Given the description of an element on the screen output the (x, y) to click on. 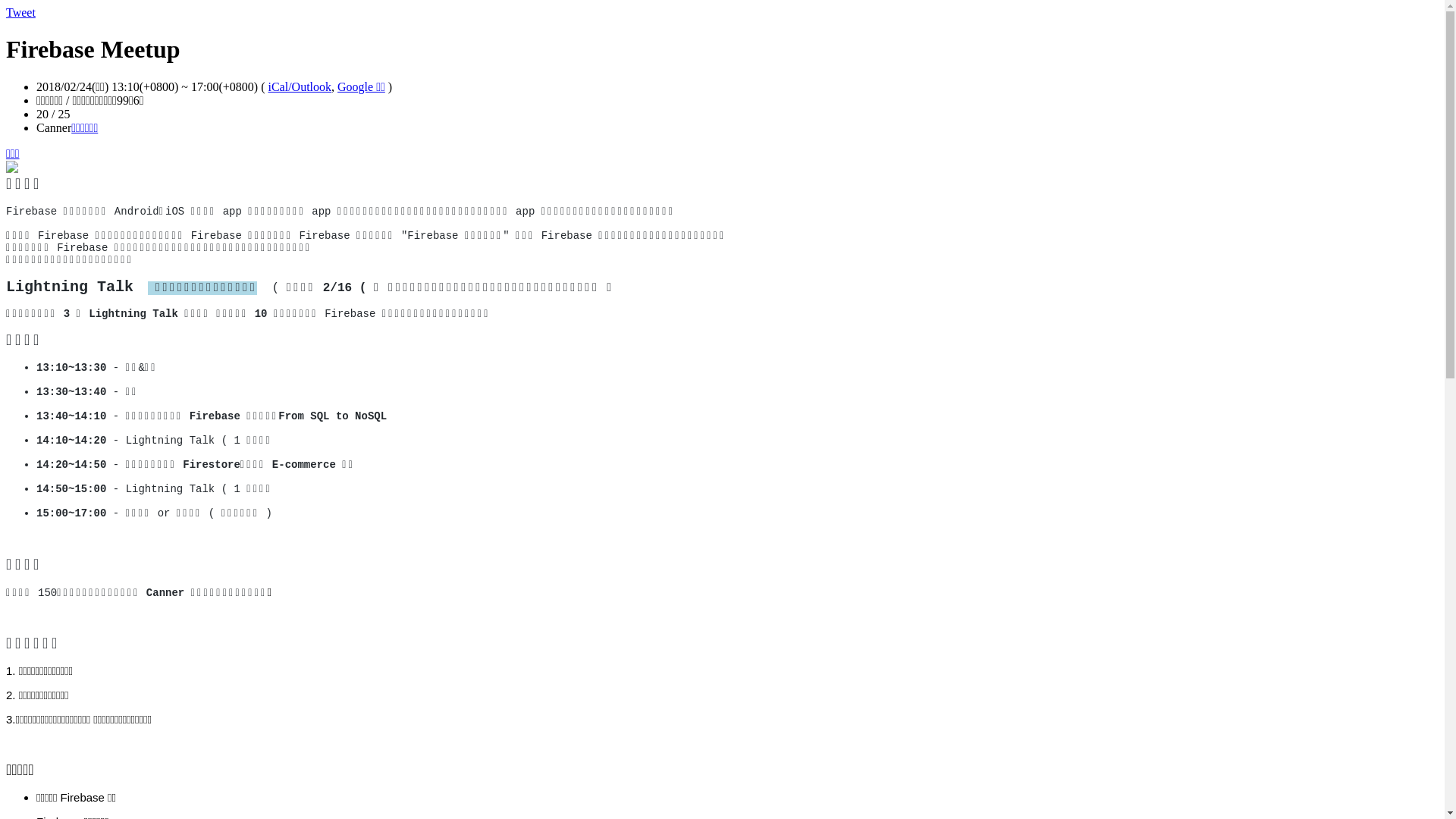
Tweet Element type: text (20, 12)
iCal/Outlook Element type: text (299, 86)
